Given the description of an element on the screen output the (x, y) to click on. 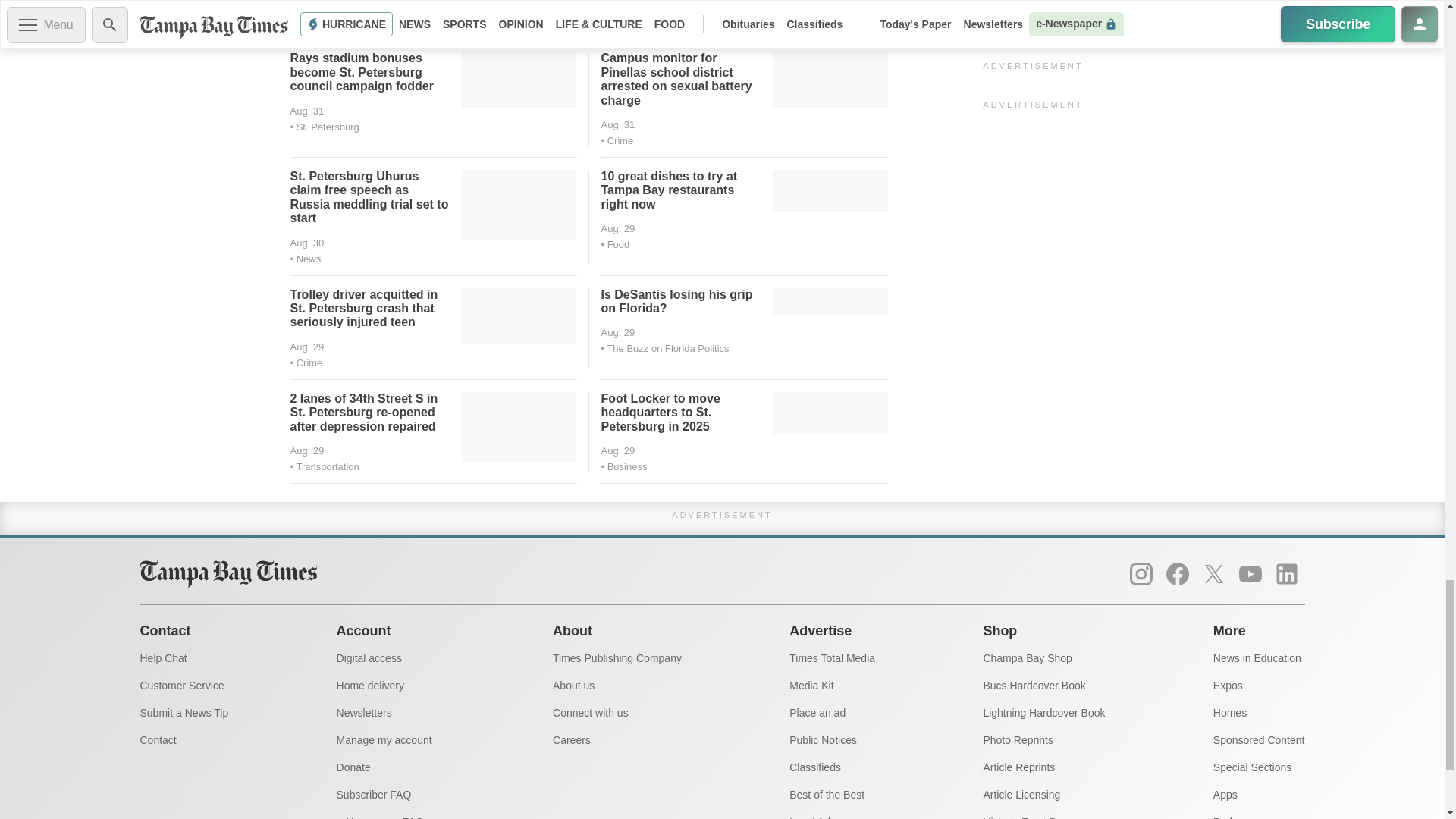
2024-08-30T09:30:00Z (306, 243)
2024-08-31T11:00:00Z (306, 111)
2024-08-29T14:43:39.951Z (616, 228)
2024-08-29T10:00:00Z (306, 347)
2024-08-29T10:00:00Z (616, 332)
2024-08-30T20:02:55.351Z (616, 124)
